Given the description of an element on the screen output the (x, y) to click on. 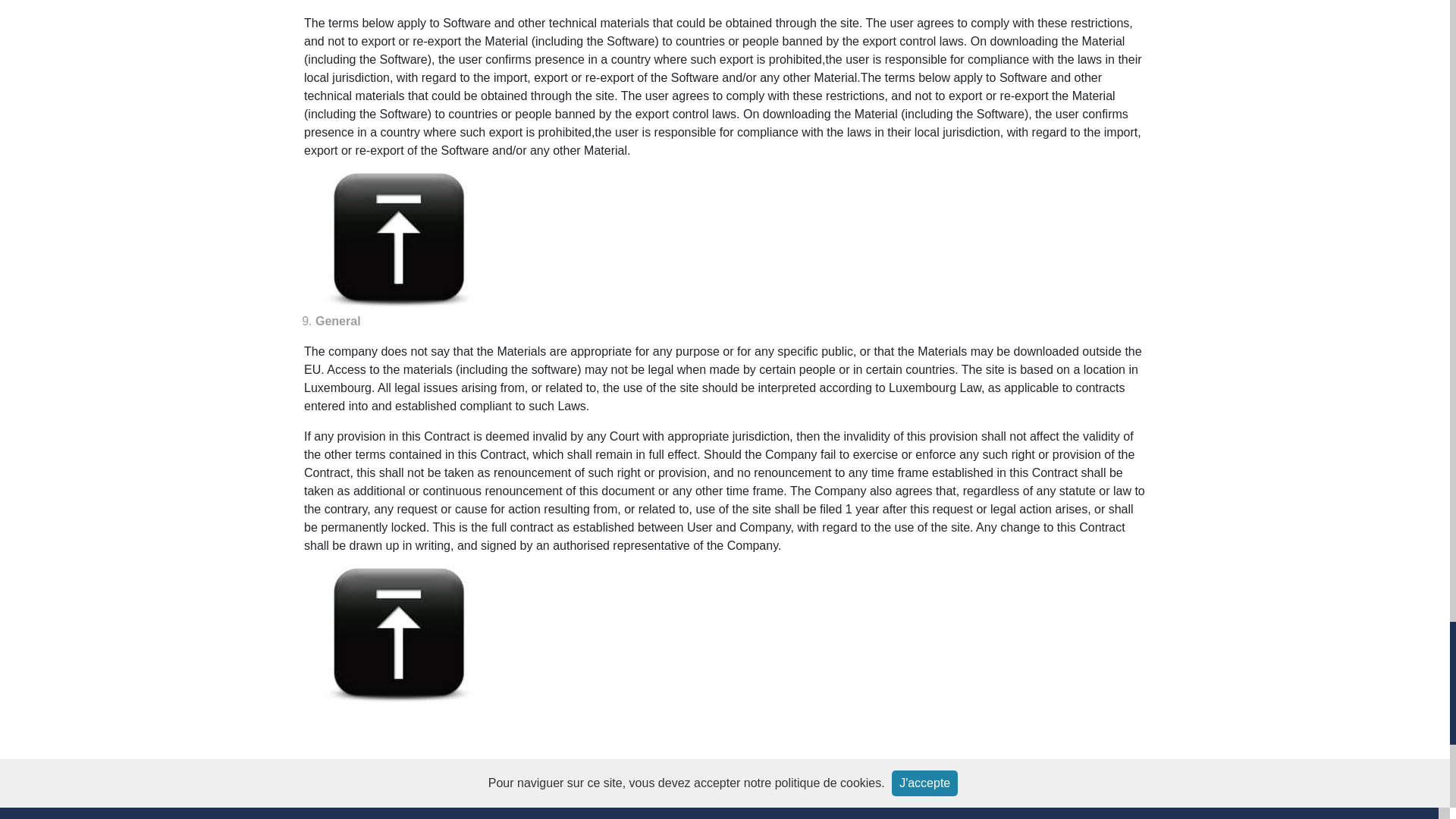
IMATICO mehr als 4.000 Immobilien zum Verkauf in Portugal. (86, 811)
Back to the summary (398, 241)
Back to the summary (398, 637)
